Given the description of an element on the screen output the (x, y) to click on. 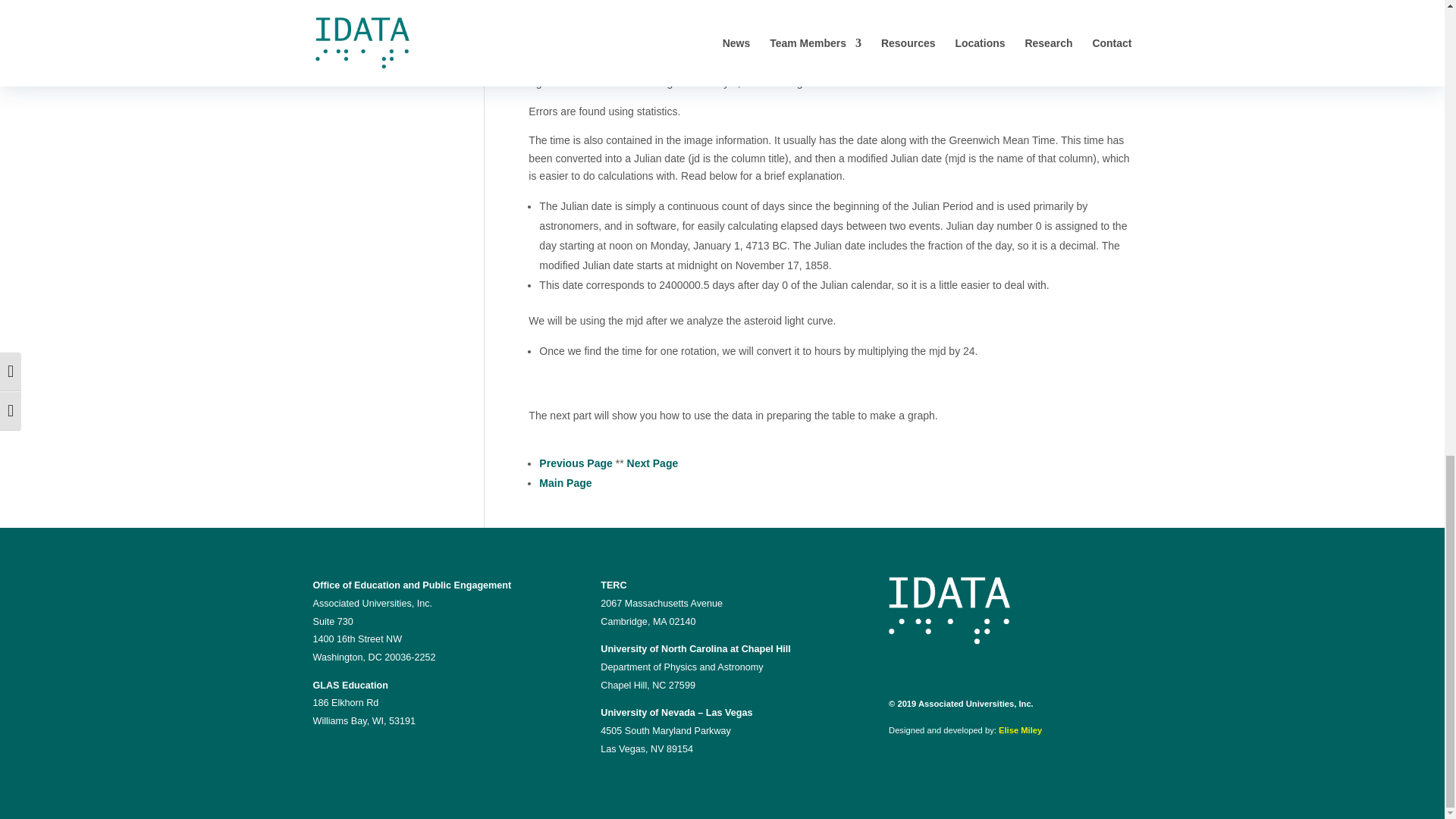
Next Page (652, 463)
Previous Page (575, 463)
